Given the description of an element on the screen output the (x, y) to click on. 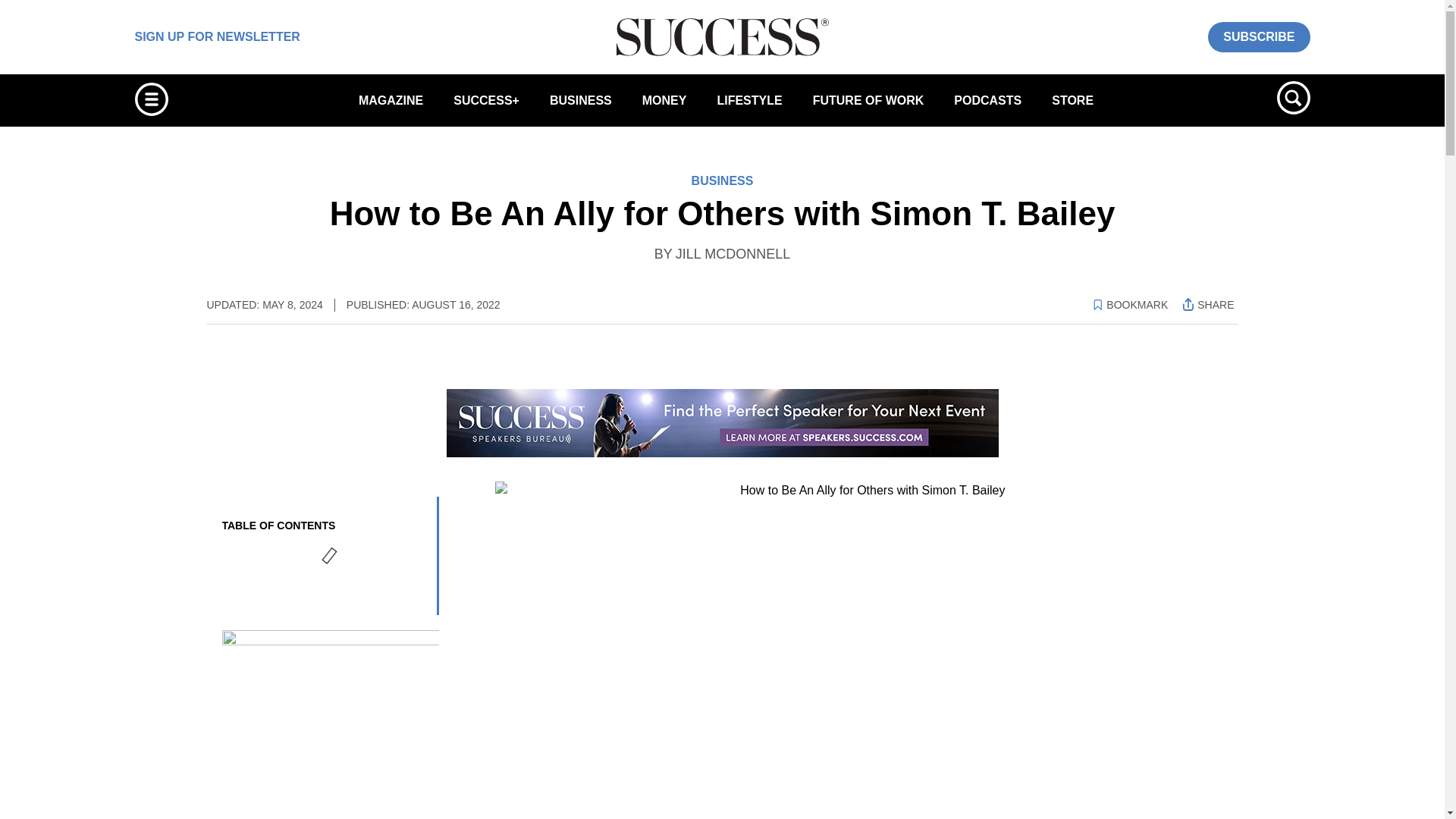
PODCASTS (987, 100)
LIFESTYLE (748, 100)
FUTURE OF WORK (868, 100)
STORE (1072, 100)
SIGN UP FOR NEWSLETTER (217, 36)
MONEY (664, 100)
MAGAZINE (390, 100)
BUSINESS (580, 100)
SUBSCRIBE (1258, 36)
